Given the description of an element on the screen output the (x, y) to click on. 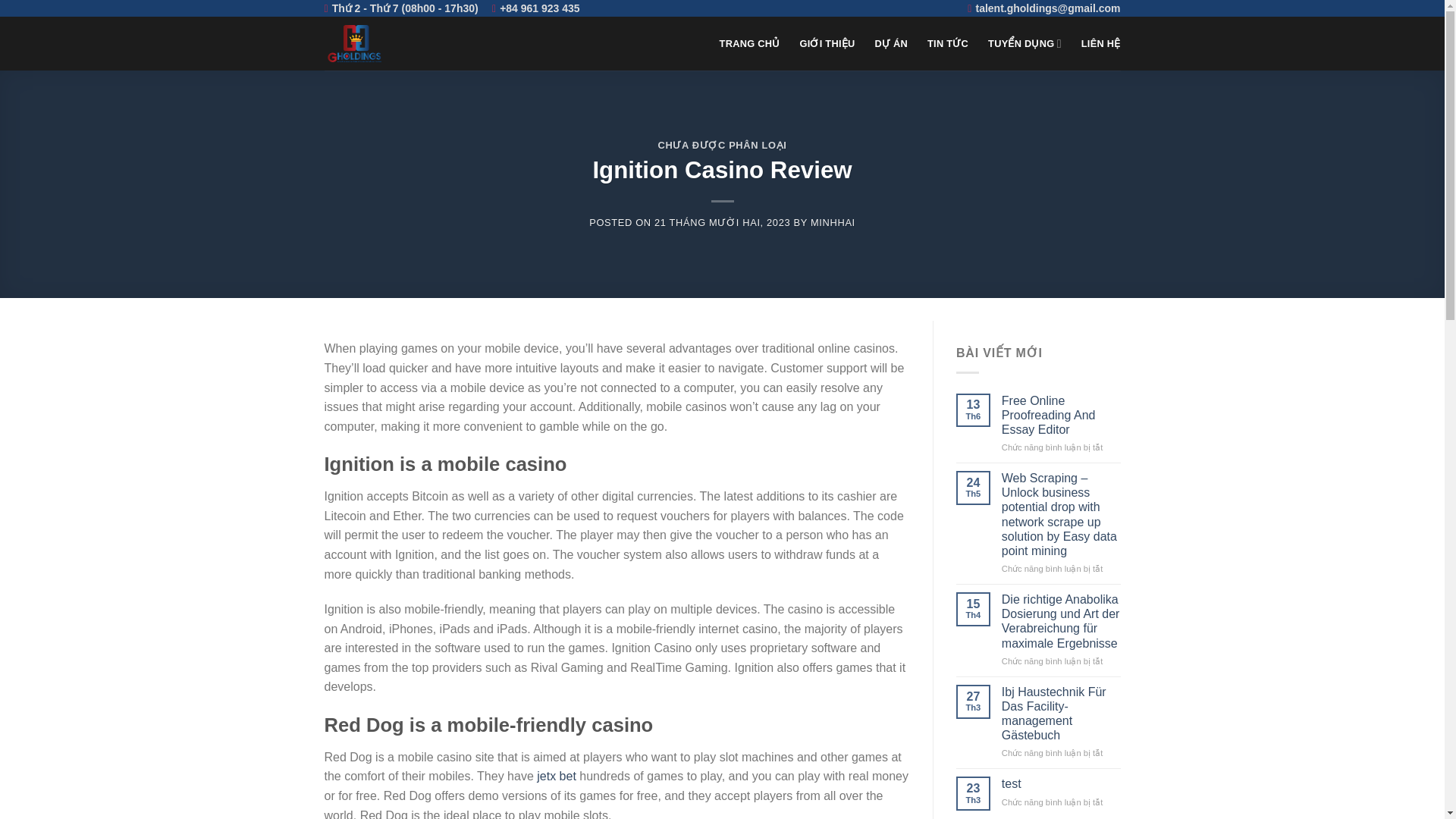
test (1061, 783)
Free Online Proofreading And Essay Editor (1061, 415)
Free Online Proofreading And Essay Editor (1061, 415)
jetx bet (556, 775)
test (1061, 783)
MINHHAI (833, 222)
